Given the description of an element on the screen output the (x, y) to click on. 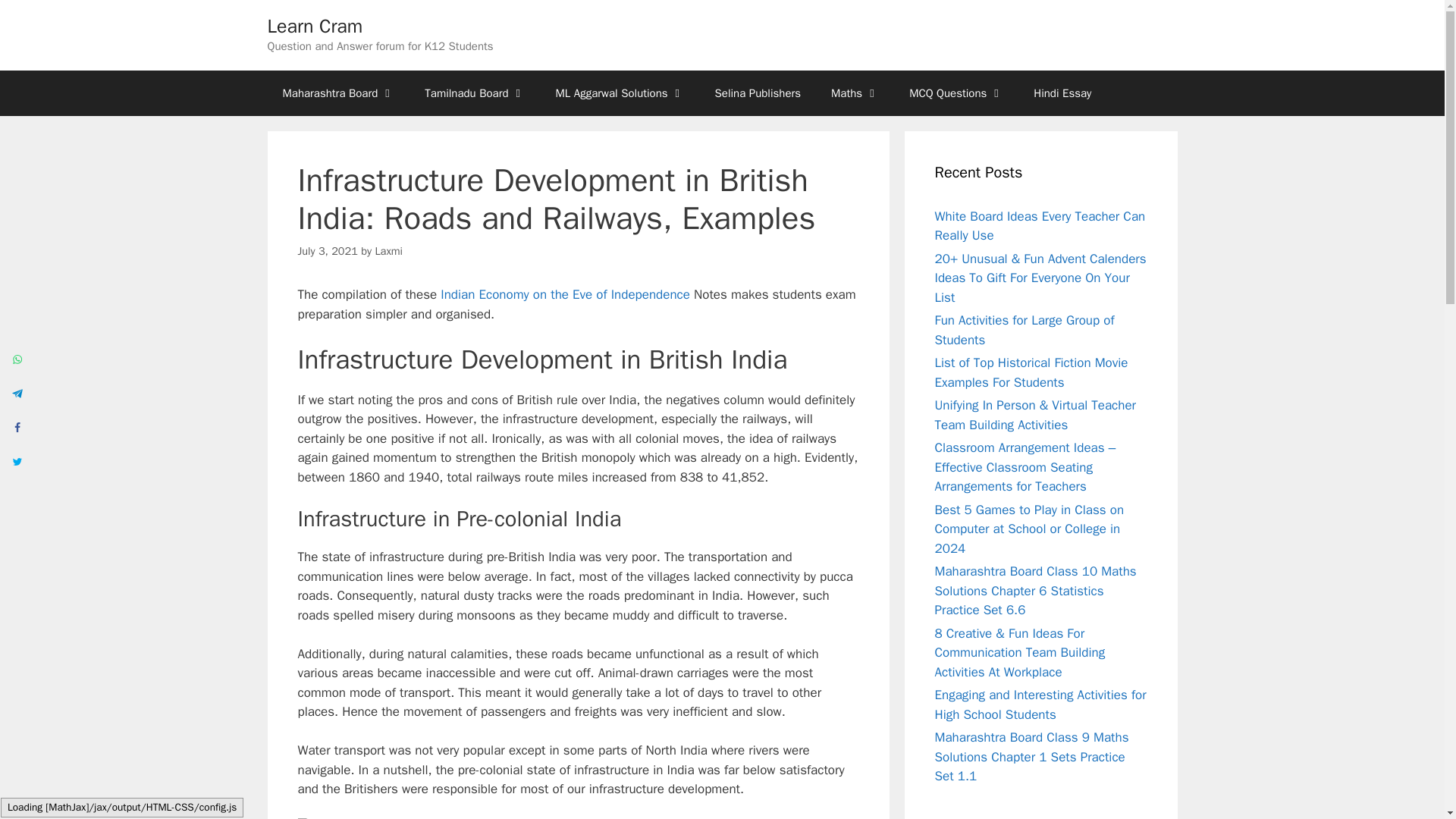
Selina Publishers (758, 92)
List of Top Historical Fiction Movie Examples For Students (1030, 372)
Hindi Essay (1061, 92)
MCQ Questions (955, 92)
ML Aggarwal Solutions (620, 92)
Learn Cram (314, 25)
Share on Telegram (16, 392)
Share on Twitter (16, 460)
Fun Activities for Large Group of Students (1023, 330)
Maths (854, 92)
View all posts by Laxmi (388, 250)
Share on Facebook (16, 426)
White Board Ideas Every Teacher Can Really Use (1039, 225)
Indian Economy on the Eve of Independence (565, 294)
Maharashtra Board (337, 92)
